Given the description of an element on the screen output the (x, y) to click on. 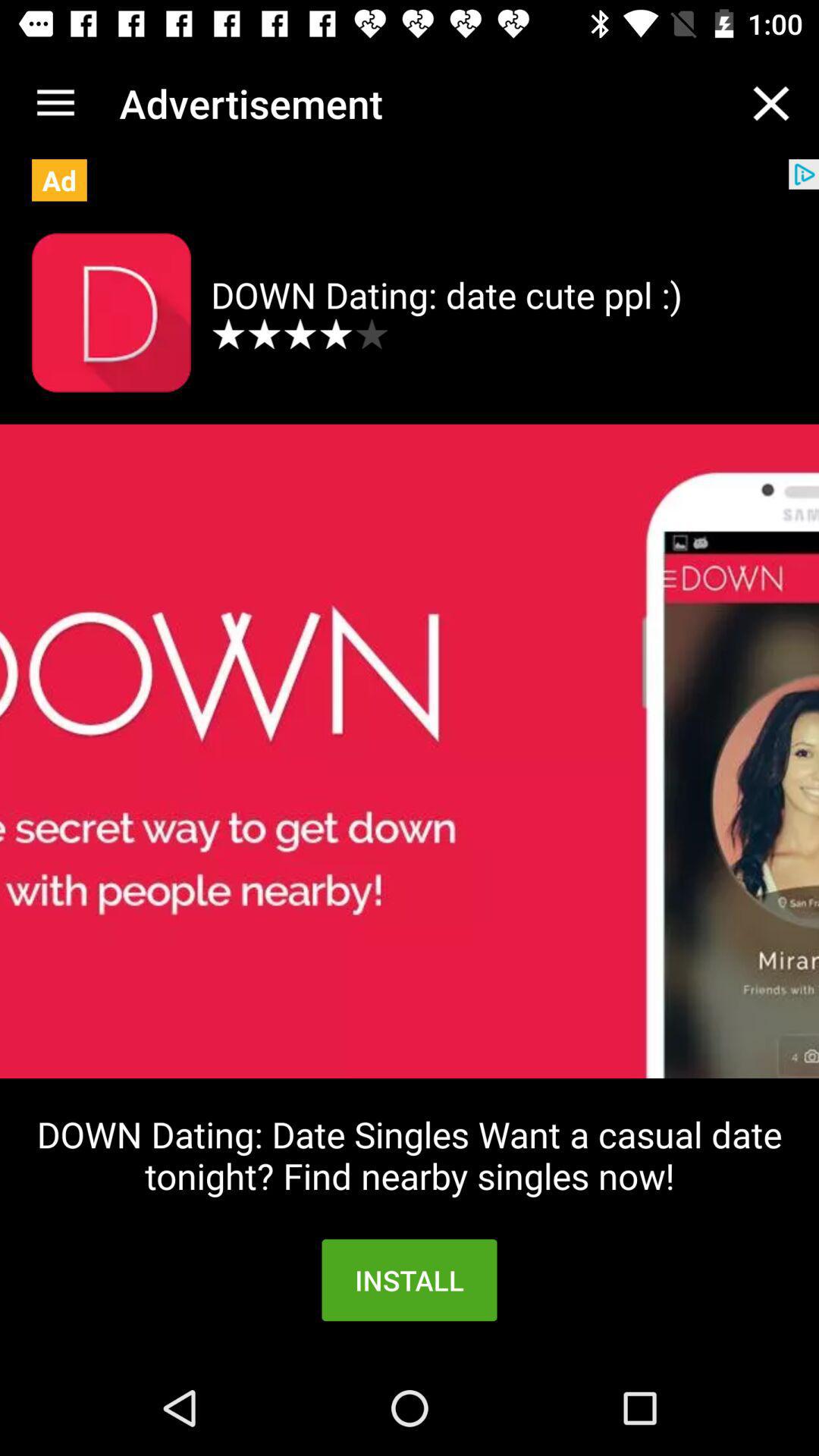
launch the item to the right of the advertisement item (771, 103)
